Given the description of an element on the screen output the (x, y) to click on. 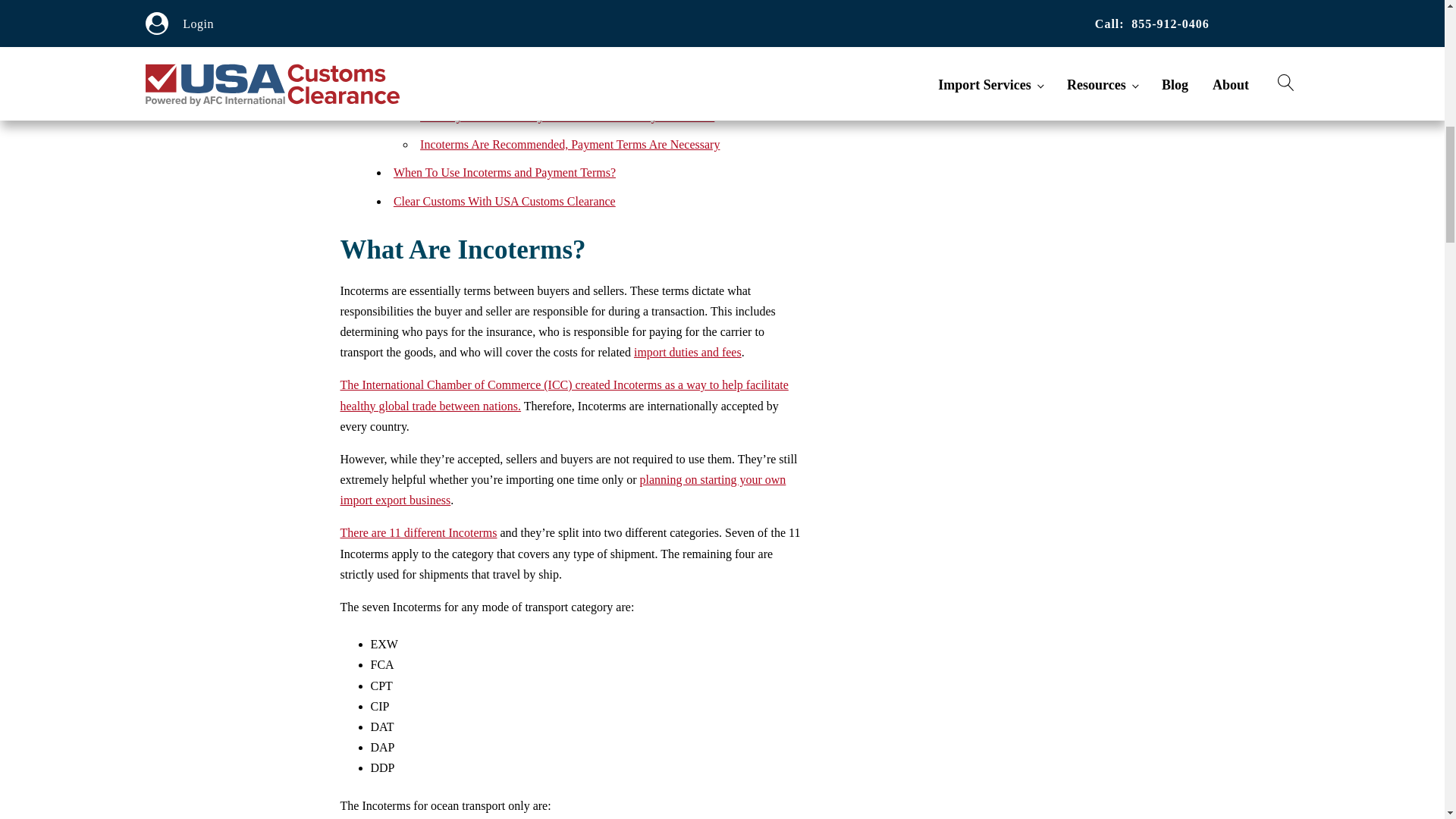
Both Dictate Responsibilities (491, 88)
Clear Customs With USA Customs Clearance (504, 201)
The Buyer Has More Say With Incoterms vs Payment Terms (567, 115)
Consignment (452, 31)
Open Account (454, 4)
When To Use Incoterms and Payment Terms? (504, 172)
Incoterms Are Recommended, Payment Terms Are Necessary (569, 144)
import duties and fees (687, 351)
